Given the description of an element on the screen output the (x, y) to click on. 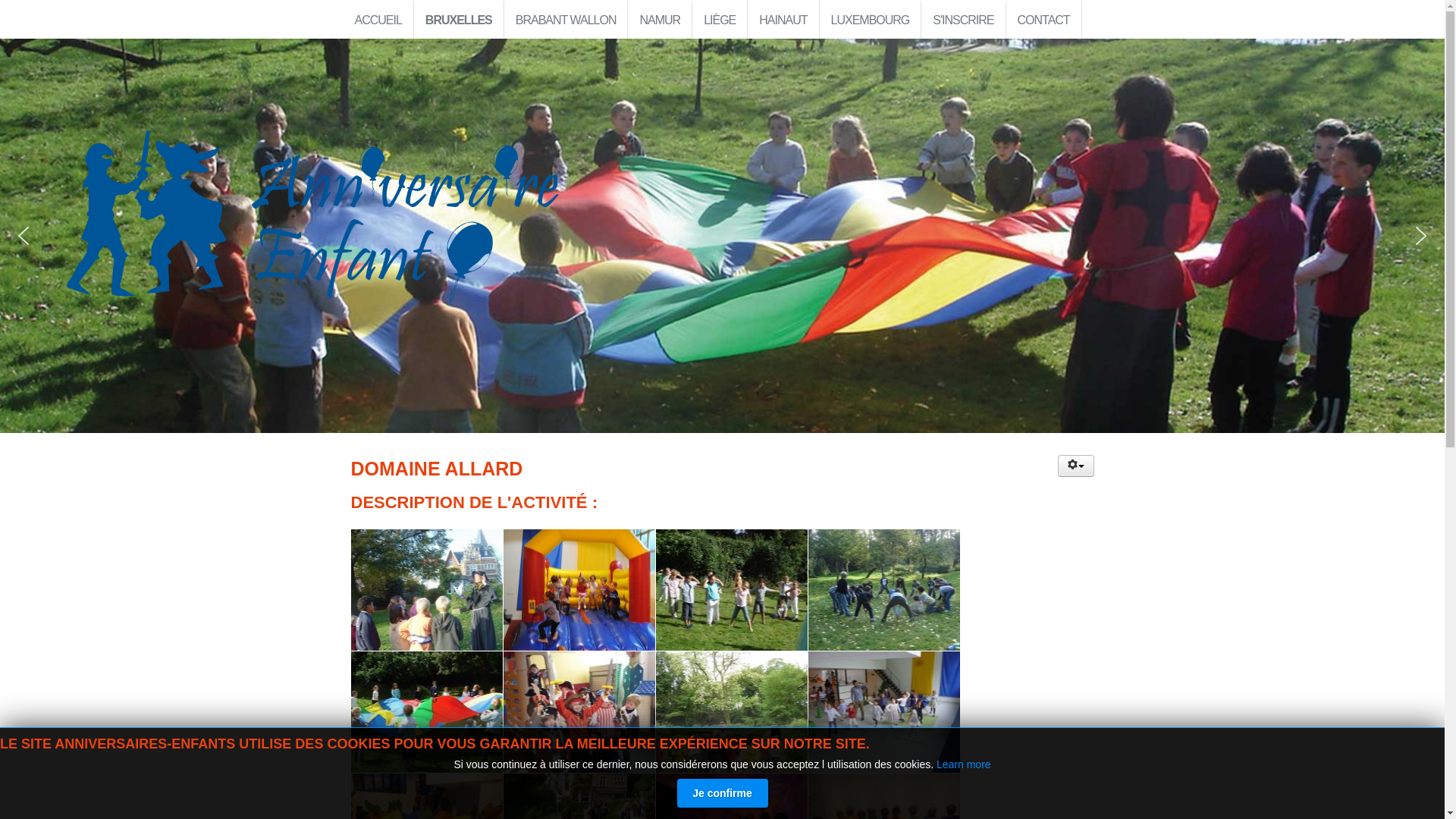
CONTACT Element type: text (1043, 19)
BRABANT WALLON Element type: text (566, 19)
NAMUR Element type: text (659, 19)
LUXEMBOURG Element type: text (870, 19)
HAINAUT Element type: text (783, 19)
ACCUEIL Element type: text (377, 19)
You are viewing the image with filename P1060897.JPG Element type: hover (730, 711)
S'INSCRIRE Element type: text (963, 19)
You are viewing the image with filename P1060908.JPG Element type: hover (884, 711)
Learn more Element type: text (963, 764)
BRUXELLES Element type: text (459, 19)
